Given the description of an element on the screen output the (x, y) to click on. 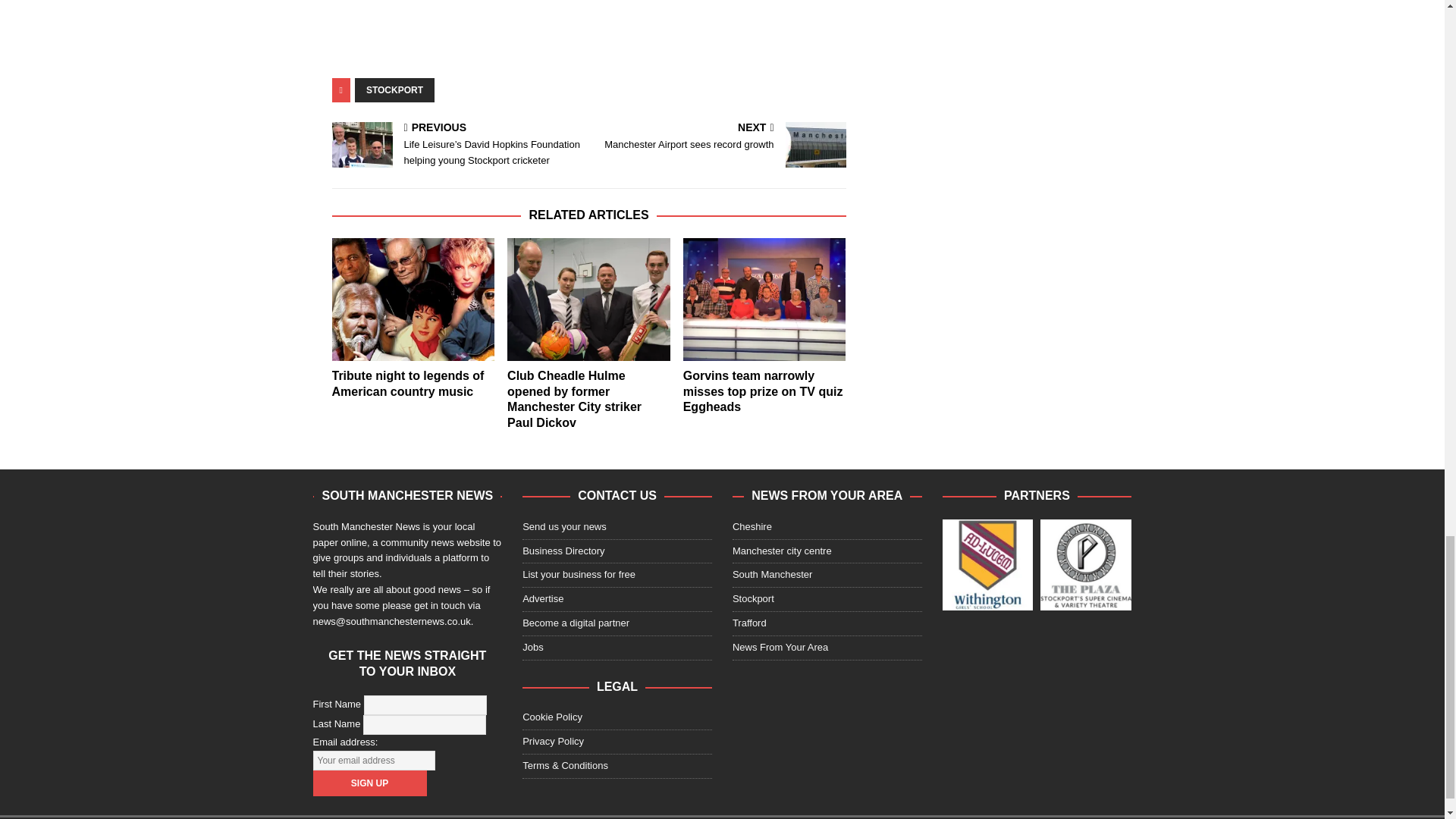
Sign up (369, 783)
